Given the description of an element on the screen output the (x, y) to click on. 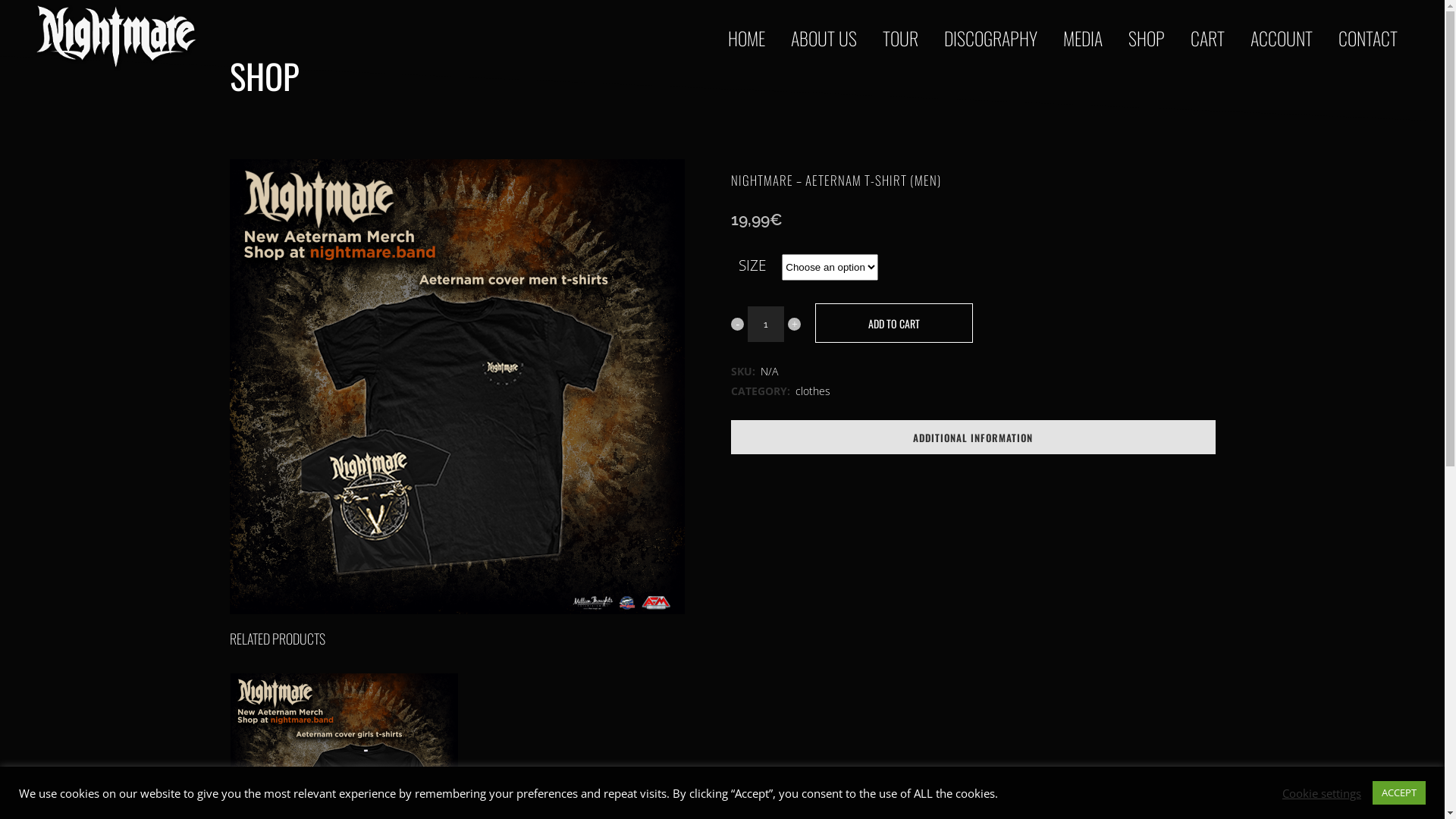
CONTACT Element type: text (1367, 37)
ADD TO CART Element type: text (893, 322)
ABOUT US Element type: text (823, 37)
men t shirt square Element type: hover (456, 386)
DISCOGRAPHY Element type: text (990, 37)
Qty Element type: hover (765, 324)
SHOP Element type: text (1146, 37)
HOME Element type: text (746, 37)
ACCEPT Element type: text (1398, 792)
MEDIA Element type: text (1082, 37)
clothes Element type: text (812, 390)
ACCOUNT Element type: text (1281, 37)
CART Element type: text (1207, 37)
TOUR Element type: text (900, 37)
Cookie settings Element type: text (1321, 792)
